Given the description of an element on the screen output the (x, y) to click on. 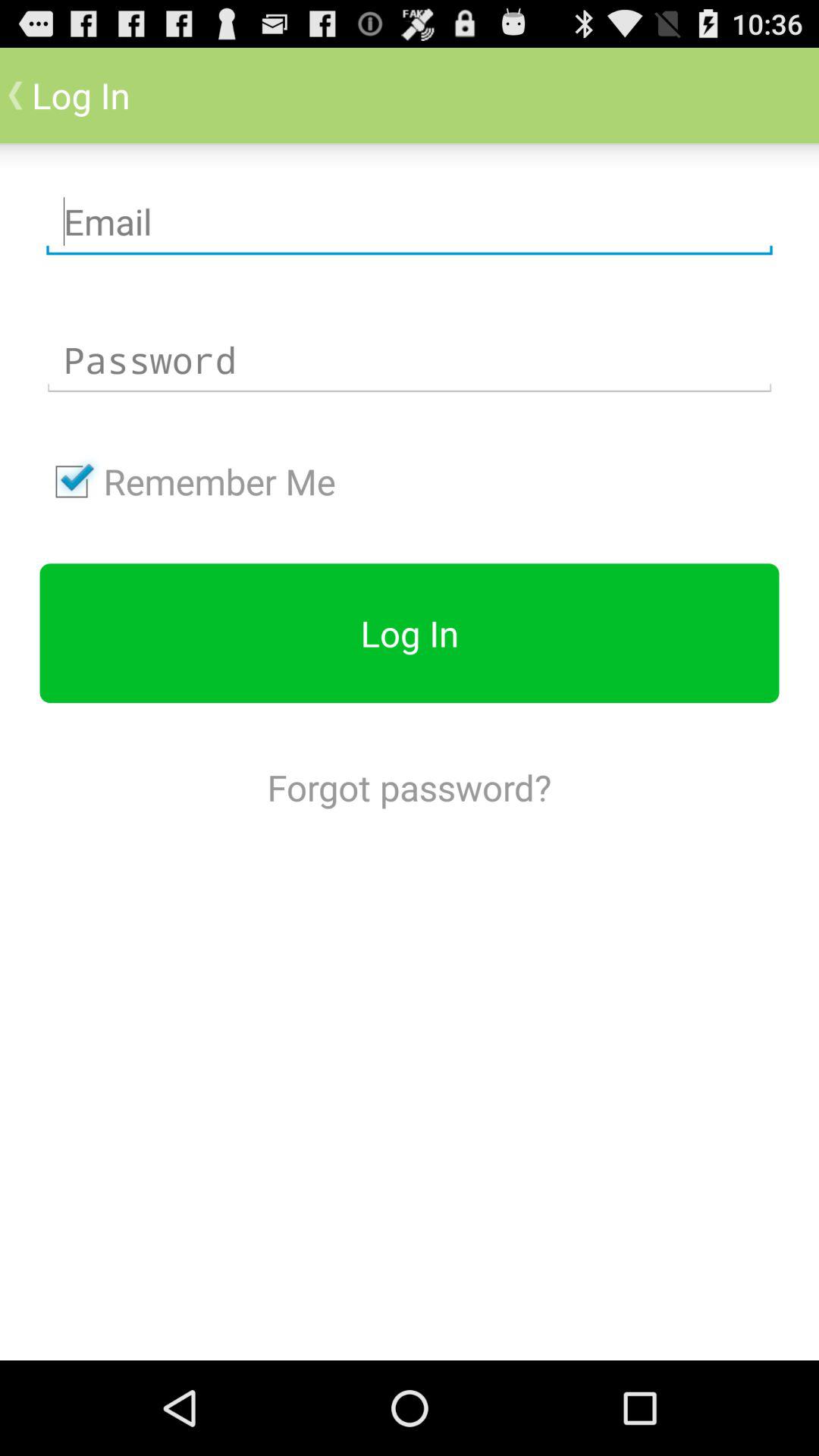
press the forgot password? icon (409, 787)
